Given the description of an element on the screen output the (x, y) to click on. 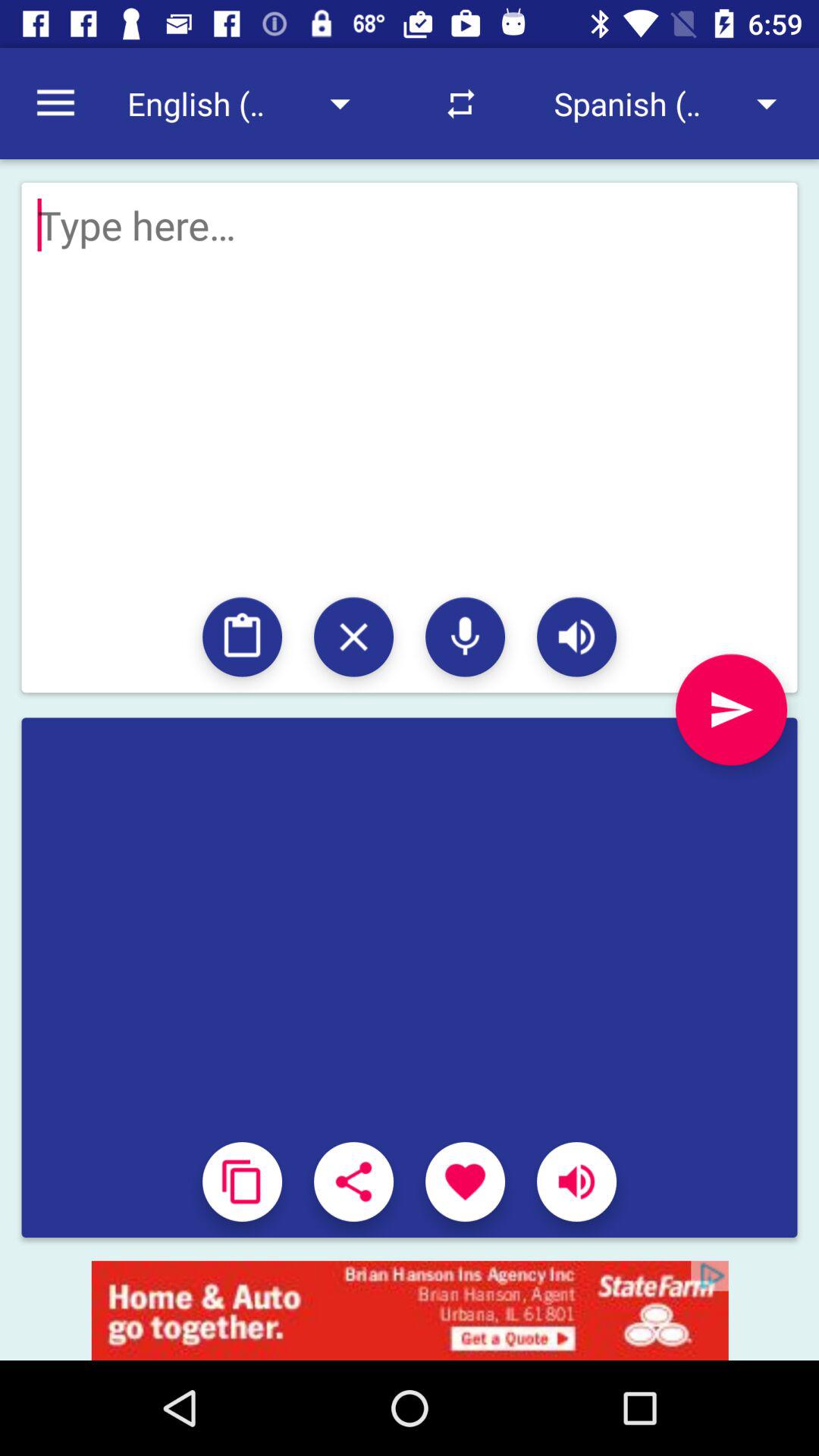
send (731, 709)
